Given the description of an element on the screen output the (x, y) to click on. 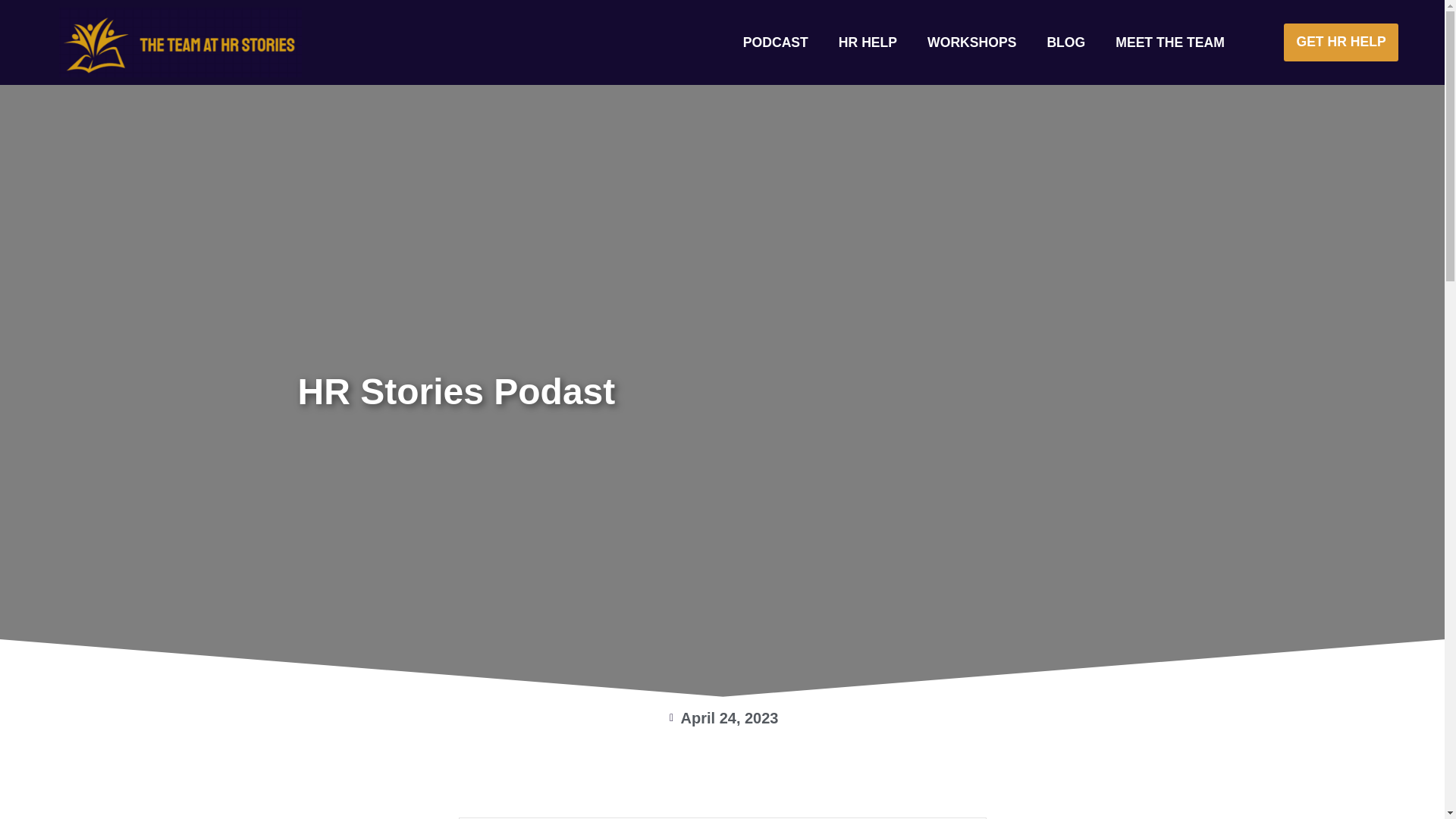
PODCAST (776, 42)
BLOG (1065, 42)
April 24, 2023 (722, 717)
WORKSHOPS (971, 42)
HR HELP (868, 42)
GET HR HELP (1340, 42)
MEET THE TEAM (1170, 42)
